Given the description of an element on the screen output the (x, y) to click on. 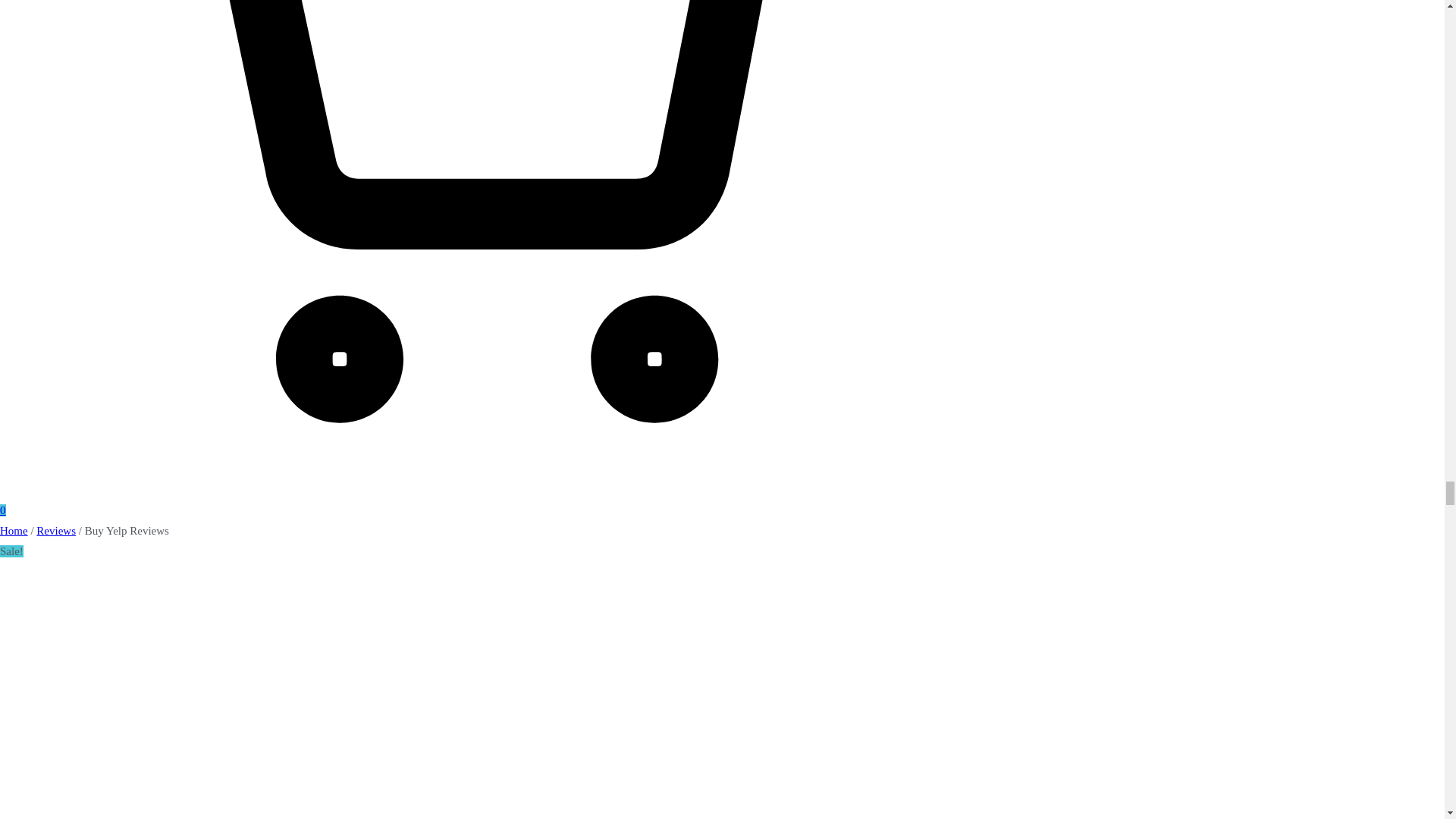
View your shopping cart (424, 500)
